Given the description of an element on the screen output the (x, y) to click on. 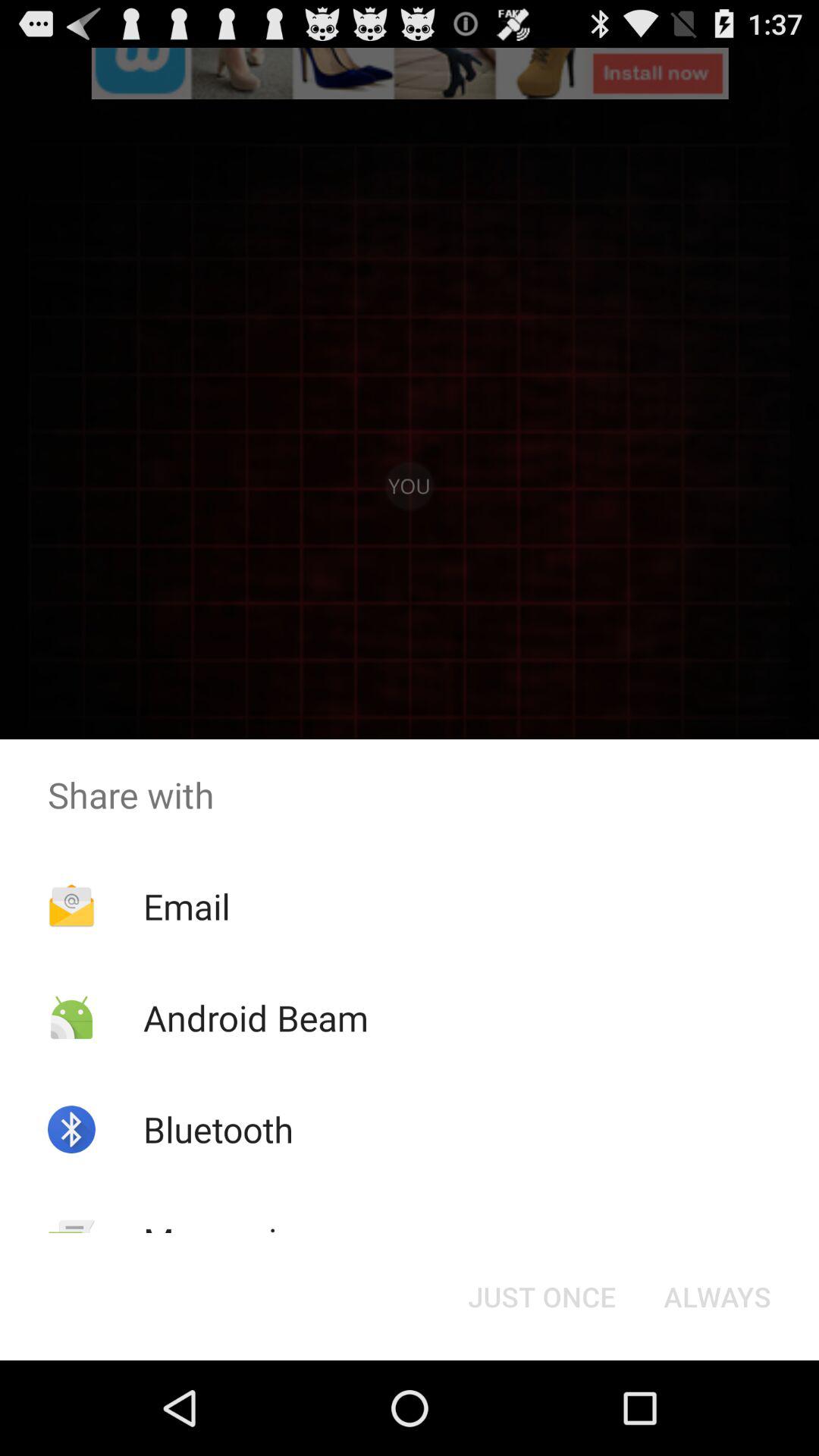
click the icon at the bottom right corner (717, 1296)
